Given the description of an element on the screen output the (x, y) to click on. 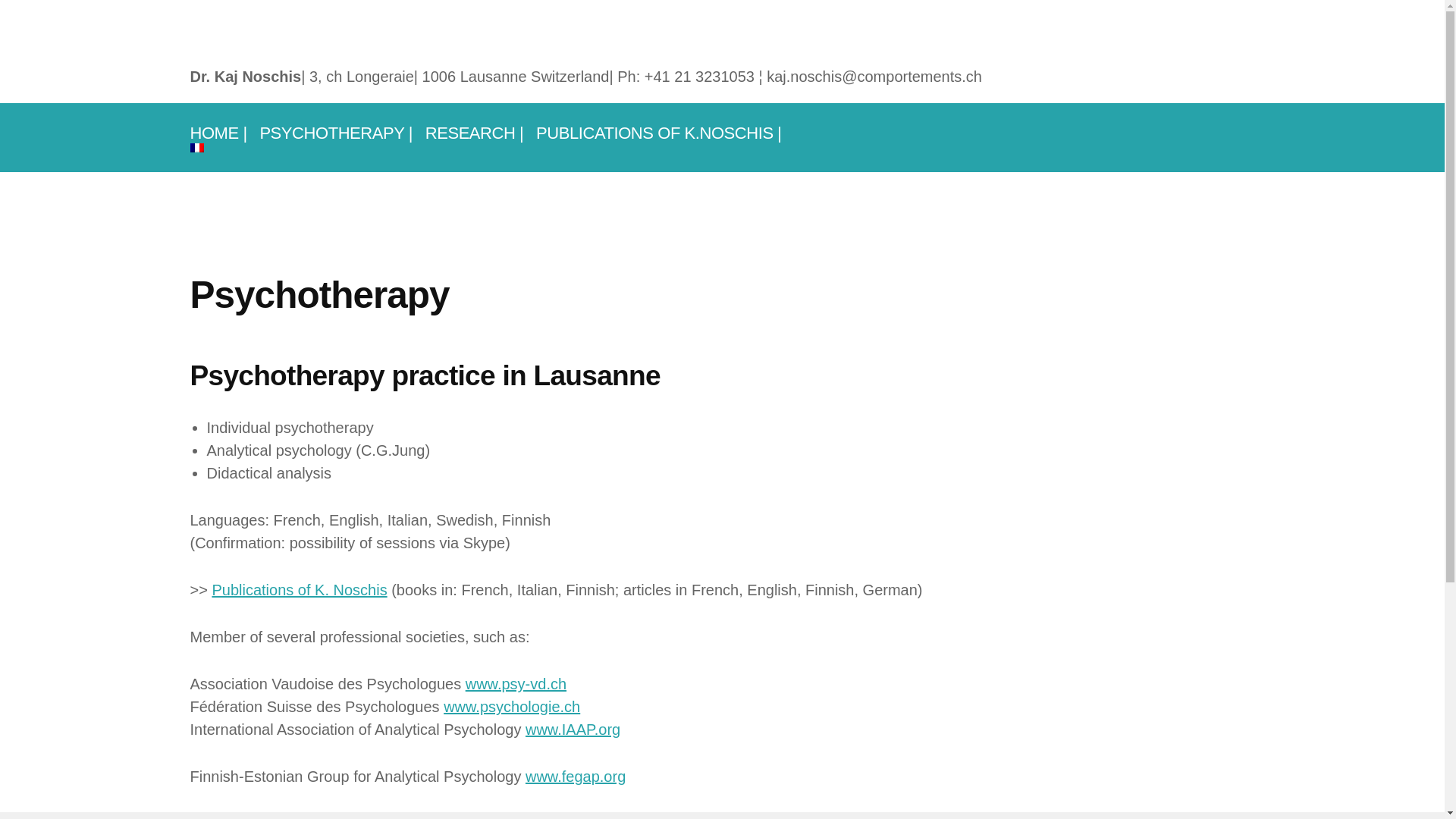
PUBLICATIONS OF K.NOSCHIS | Element type: text (658, 131)
www.psychologie.ch Element type: text (511, 706)
HOME | Element type: text (217, 131)
PSYCHOTHERAPY | Element type: text (335, 131)
Publications of K. Noschis Element type: text (298, 589)
RESEARCH | Element type: text (474, 131)
www.fegap.org Element type: text (575, 776)
www.IAAP.org Element type: text (572, 729)
www.psy-vd.ch Element type: text (515, 683)
